Given the description of an element on the screen output the (x, y) to click on. 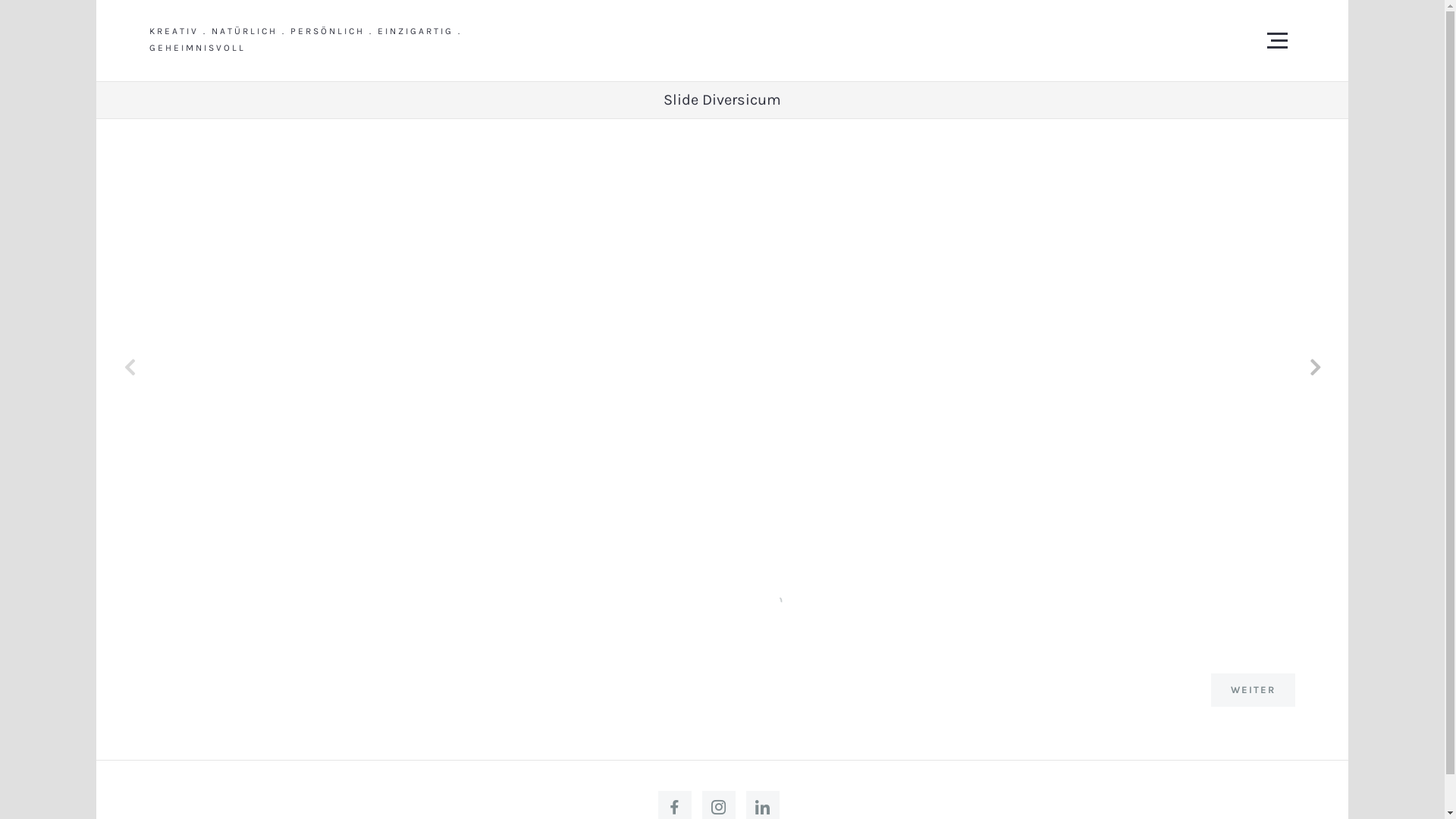
7 Element type: text (737, 598)
11 Element type: text (798, 598)
8 Element type: text (752, 598)
5 Element type: text (707, 598)
6 Element type: text (722, 598)
2 Element type: text (661, 598)
9 Element type: text (767, 598)
3 Element type: text (676, 598)
4 Element type: text (692, 598)
WEITER Element type: text (1253, 689)
1 Element type: text (646, 598)
10 Element type: text (783, 598)
